Given the description of an element on the screen output the (x, y) to click on. 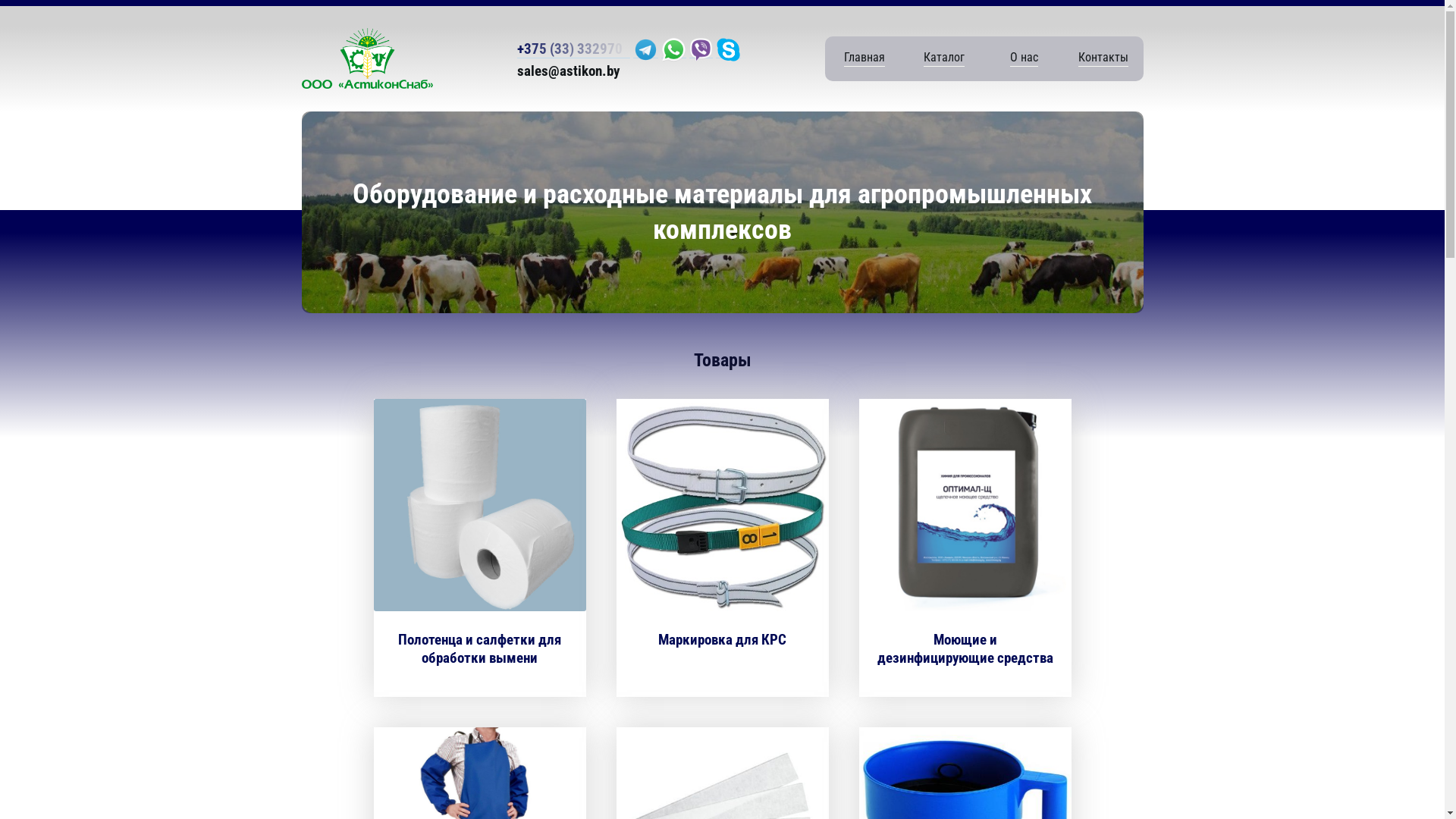
+375 (33) 332970 Element type: text (573, 49)
